Given the description of an element on the screen output the (x, y) to click on. 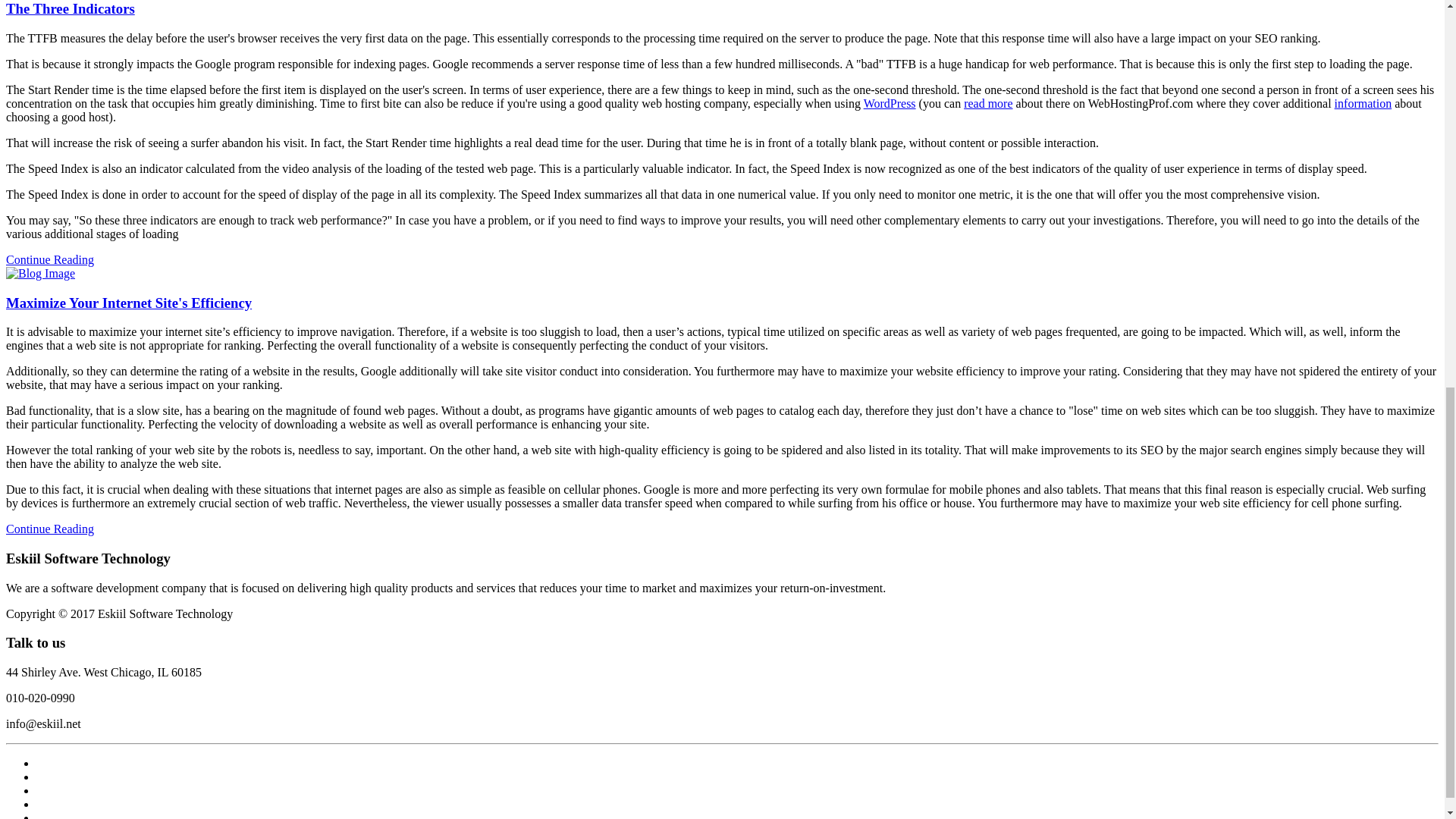
Continue Reading (49, 259)
Maximize Your Internet Site's Efficiency (128, 302)
read more (987, 103)
information (1363, 103)
WordPress (889, 103)
The Three Indicators (70, 8)
Continue Reading (49, 528)
